Given the description of an element on the screen output the (x, y) to click on. 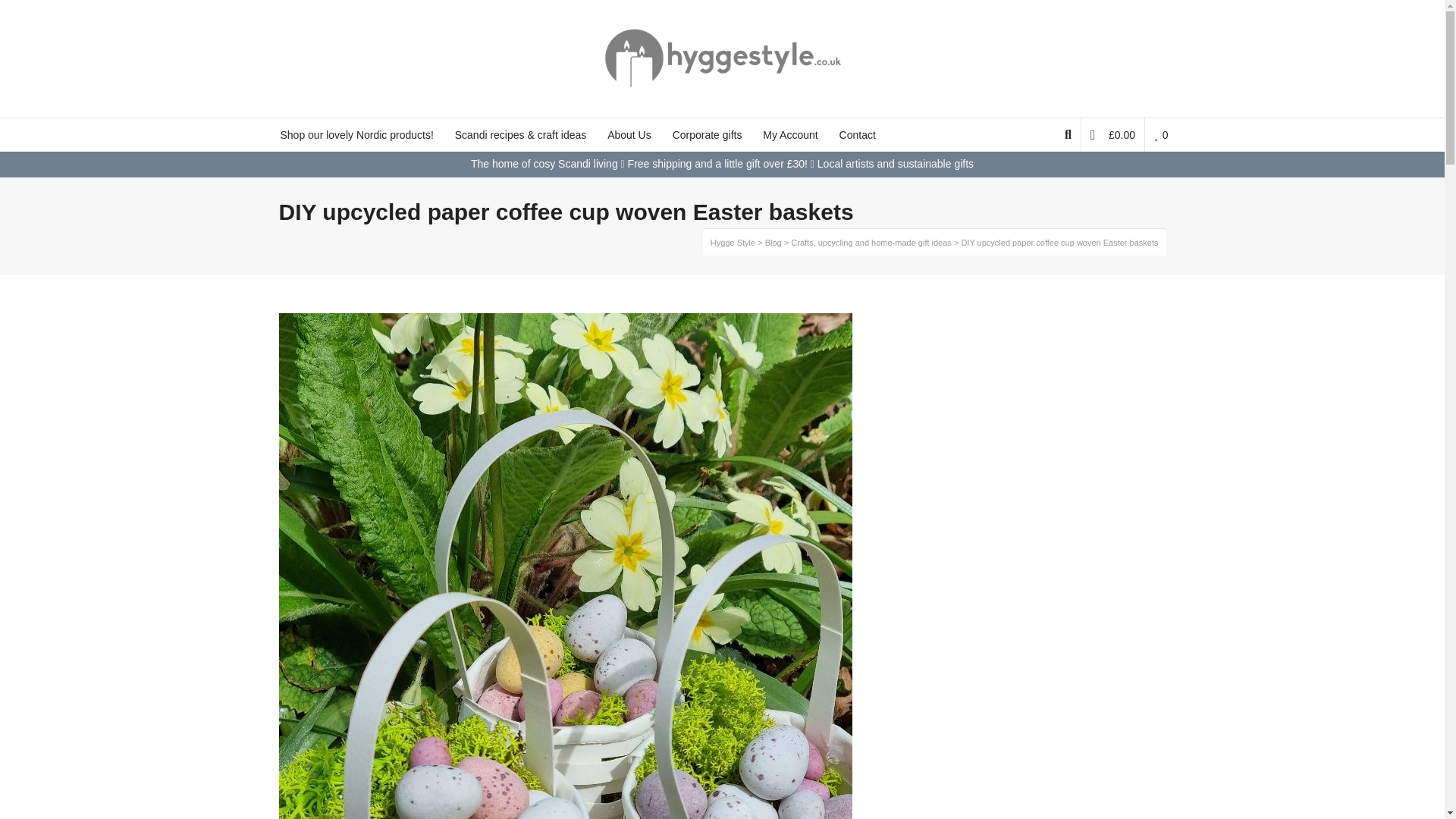
View your wishlist (1160, 134)
View your shopping bag (1112, 134)
Contact (857, 134)
About Us (629, 134)
Go to Blog. (773, 242)
Shop our lovely Nordic products! (356, 134)
Go to Hygge Style. (732, 242)
0 (1160, 134)
Corporate gifts (707, 134)
